Given the description of an element on the screen output the (x, y) to click on. 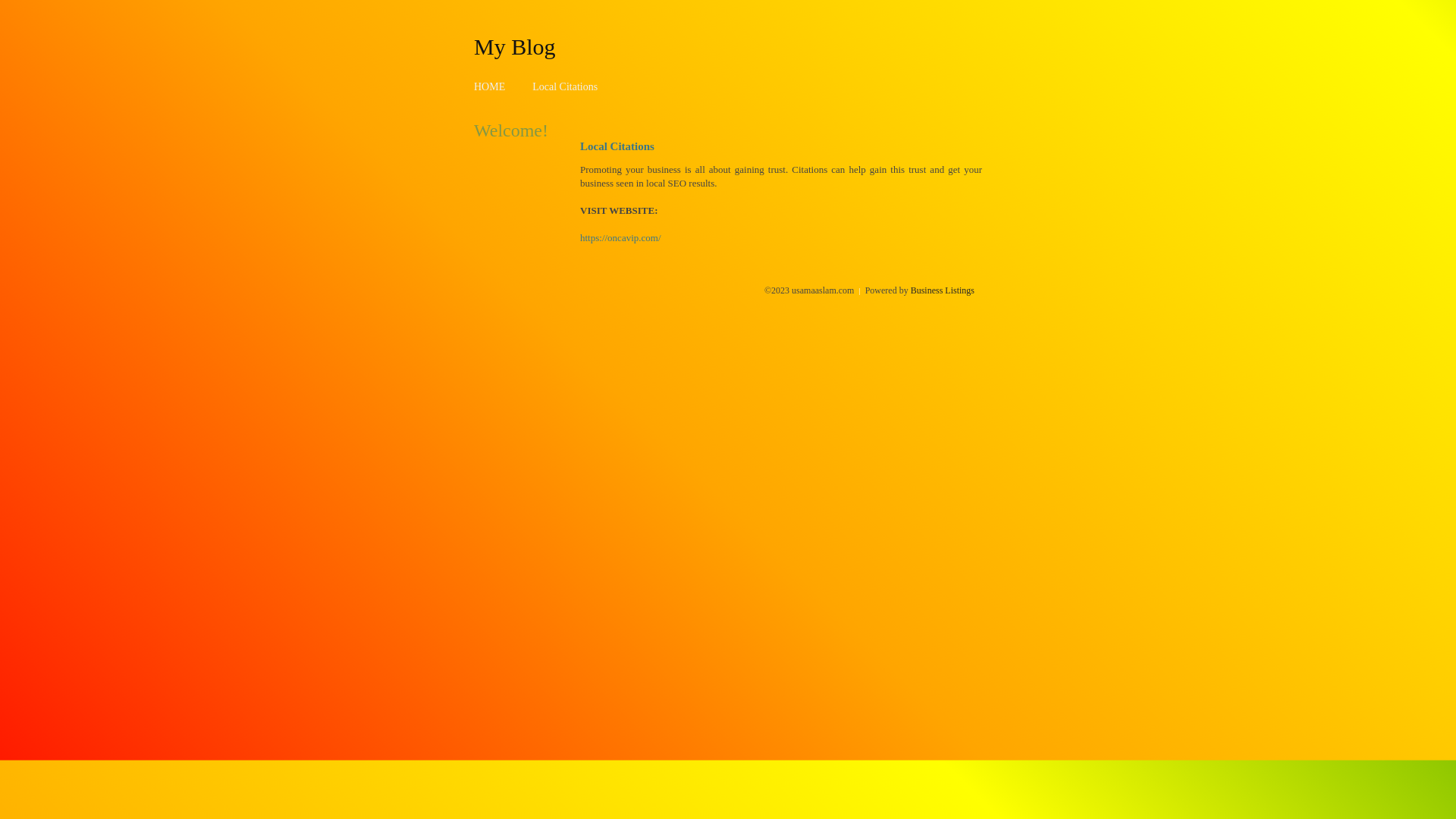
My Blog Element type: text (514, 46)
Local Citations Element type: text (564, 86)
HOME Element type: text (489, 86)
Business Listings Element type: text (942, 290)
https://oncavip.com/ Element type: text (620, 237)
